Given the description of an element on the screen output the (x, y) to click on. 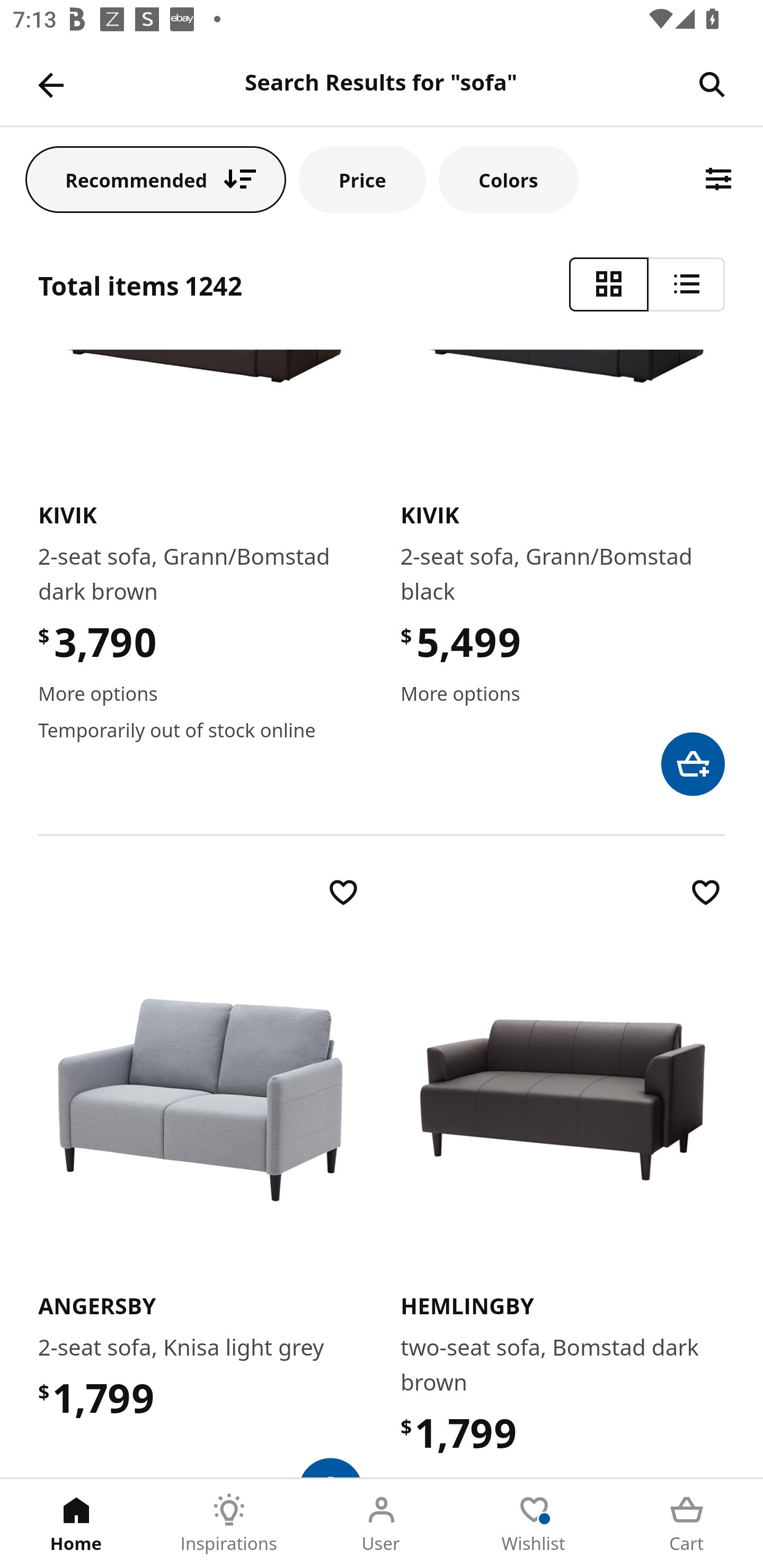
Recommended (155, 179)
Price (362, 179)
Colors (508, 179)
Home
Tab 1 of 5 (76, 1522)
Inspirations
Tab 2 of 5 (228, 1522)
User
Tab 3 of 5 (381, 1522)
Wishlist
Tab 4 of 5 (533, 1522)
Cart
Tab 5 of 5 (686, 1522)
